Given the description of an element on the screen output the (x, y) to click on. 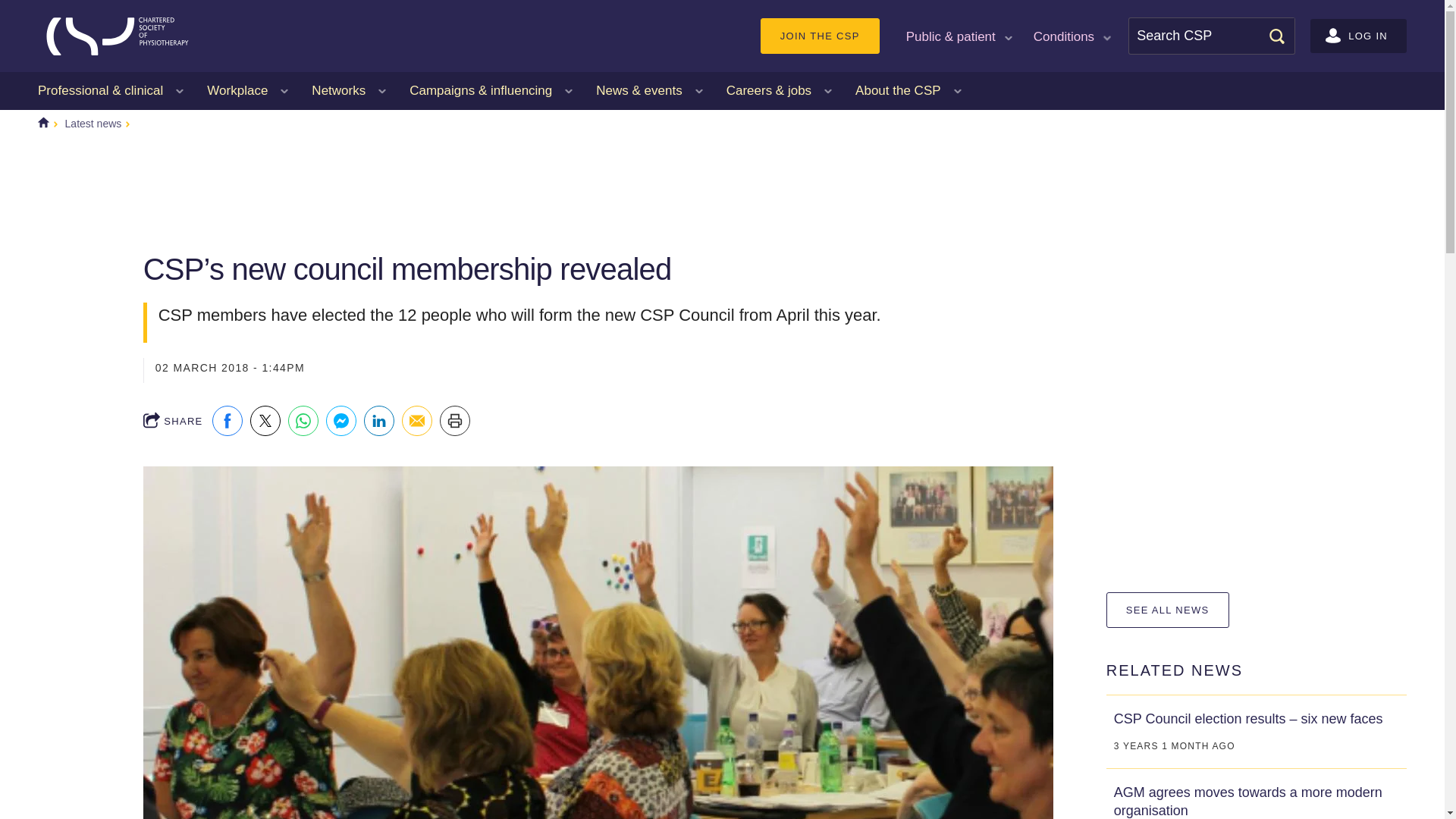
3rd party ad content (1256, 247)
Conditions (1071, 35)
WhatsApp (303, 420)
LOG IN (1358, 35)
Linkedin (379, 420)
Facebook (227, 420)
Email (416, 420)
3rd party ad content (418, 201)
JOIN THE CSP (819, 36)
